Given the description of an element on the screen output the (x, y) to click on. 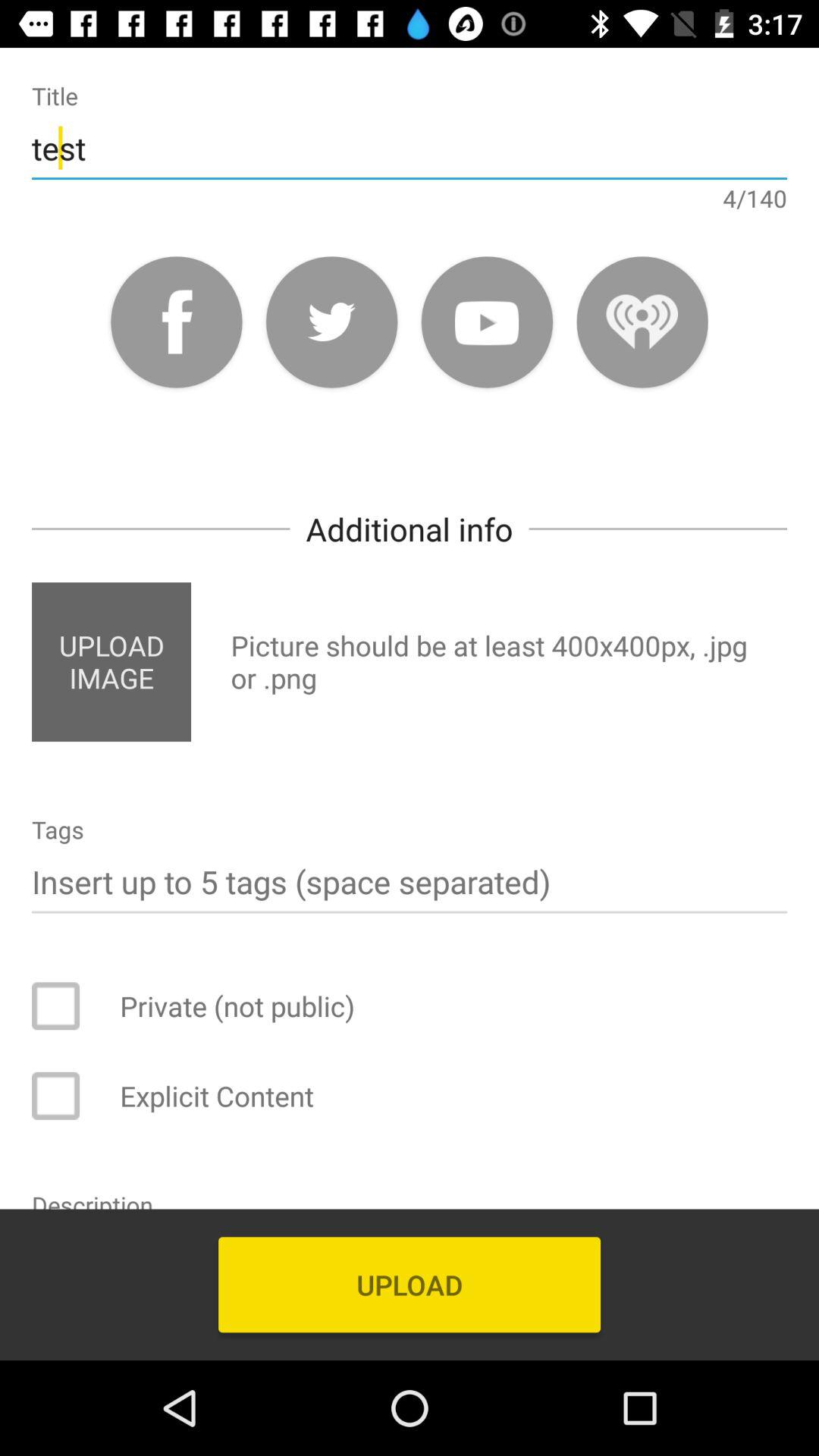
the symbol of twitter (331, 321)
